Given the description of an element on the screen output the (x, y) to click on. 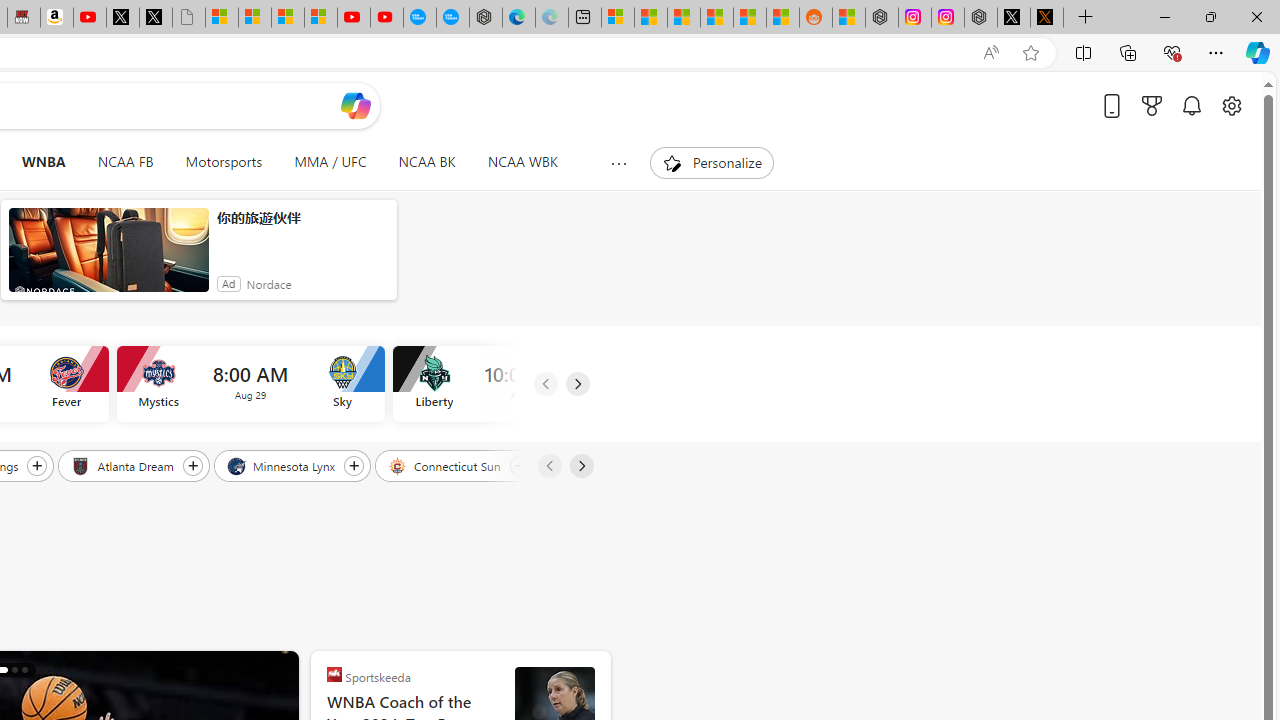
Microsoft account | Microsoft Account Privacy Settings (617, 17)
Notifications (1192, 105)
Shanghai, China Weather trends | Microsoft Weather (782, 17)
Nordace - Nordace has arrived Hong Kong (485, 17)
NCAA FB (125, 162)
Next (580, 465)
Day 1: Arriving in Yemen (surreal to be here) - YouTube (90, 17)
